Given the description of an element on the screen output the (x, y) to click on. 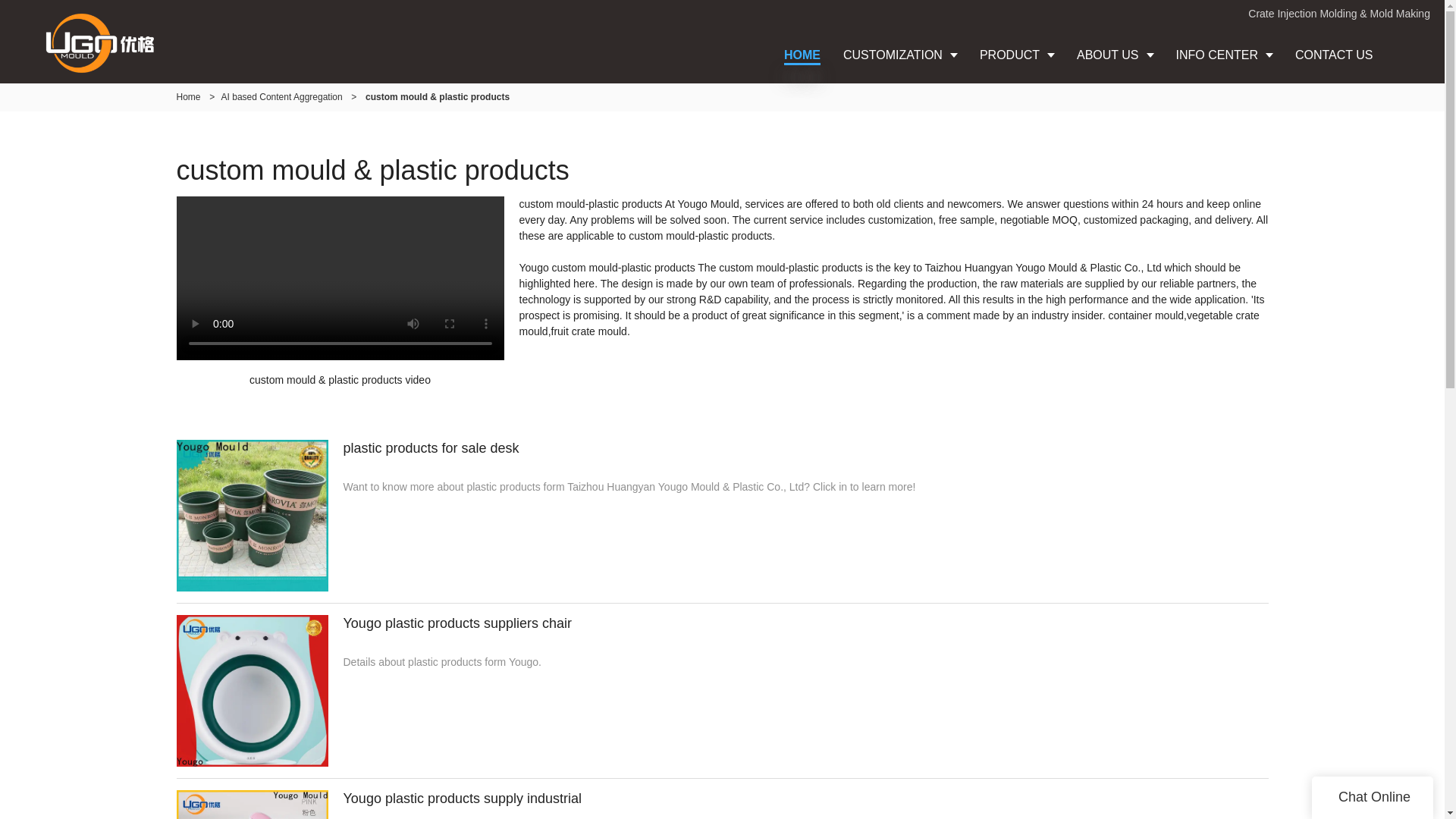
AI based Content Aggregation (281, 96)
PRODUCT (1016, 55)
CONTACT US (1334, 55)
ABOUT US (1114, 55)
CUSTOMIZATION (899, 55)
INFO CENTER (1224, 55)
Home (188, 96)
HOME (802, 55)
